Given the description of an element on the screen output the (x, y) to click on. 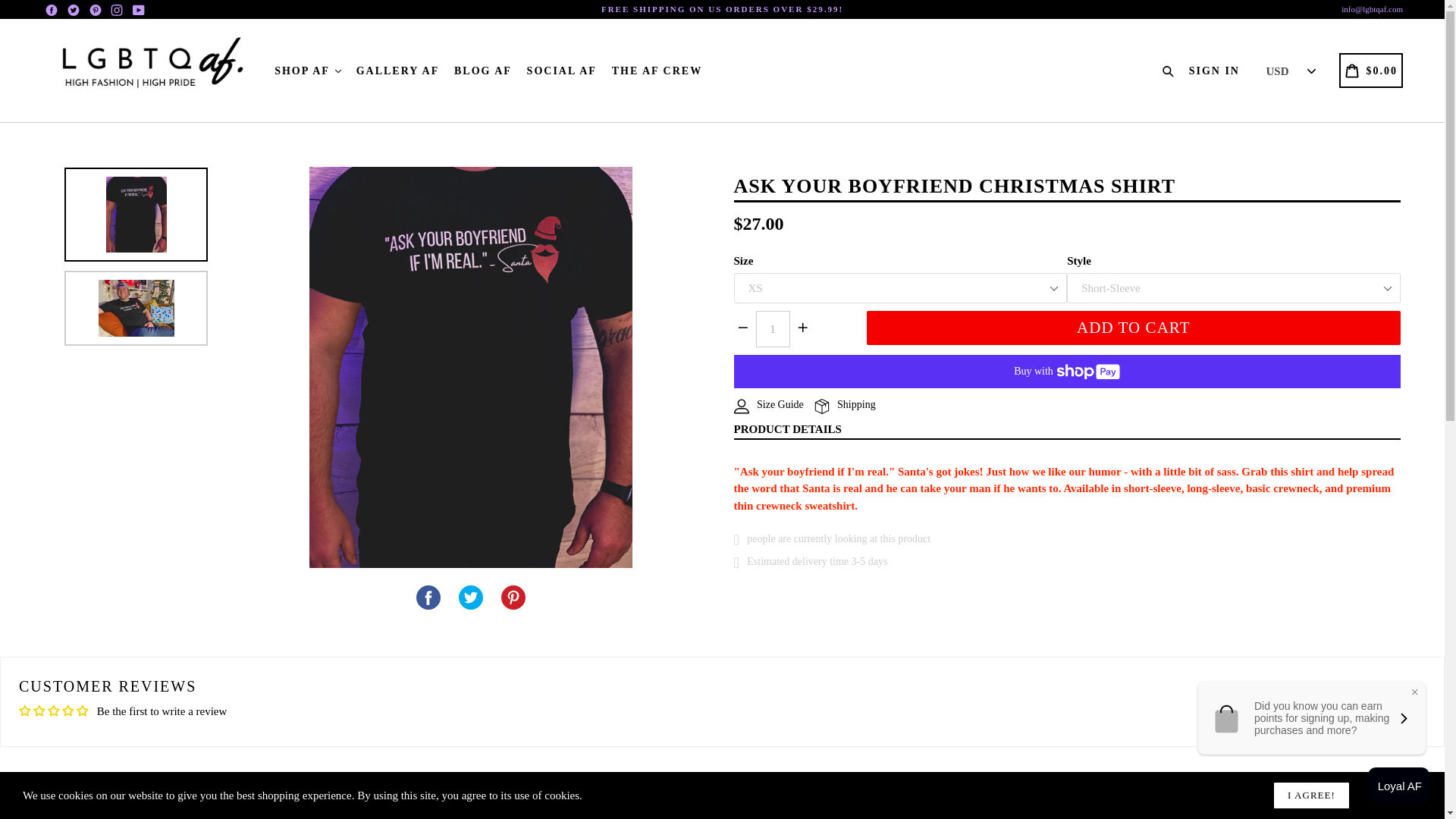
Tweet on Twitter (470, 597)
Twitter (73, 9)
LGBTQ AF on Facebook (51, 9)
Share on Facebook (428, 597)
LGBTQ AF on Instagram (116, 9)
LGBTQ AF on Pinterest (94, 9)
LGBTQ AF on YouTube (138, 9)
1 (772, 329)
Facebook (51, 9)
Pin on Pinterest (512, 597)
LGBTQ AF on Twitter (73, 9)
